Given the description of an element on the screen output the (x, y) to click on. 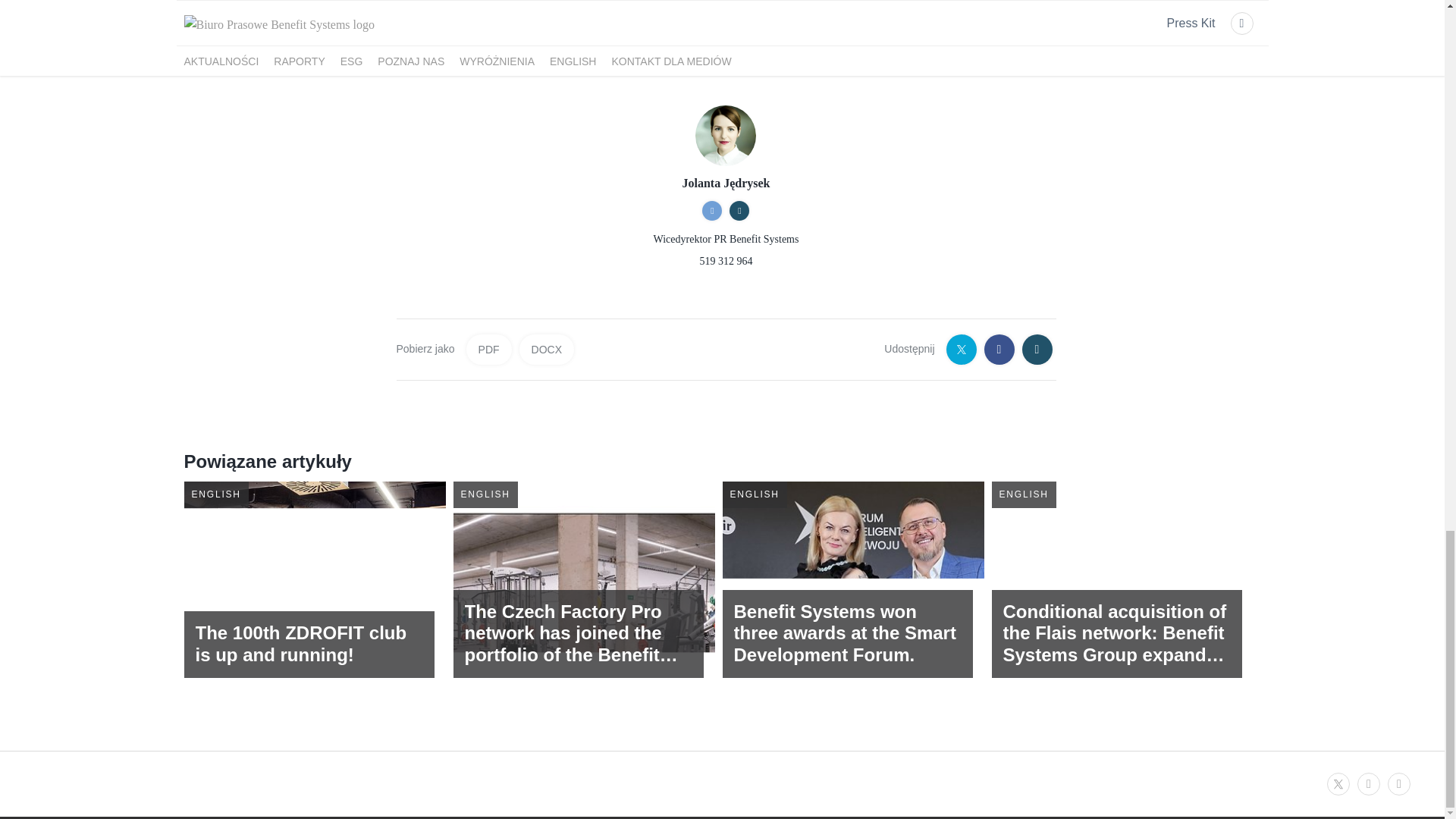
PDF (488, 349)
DOCX (317, 616)
